Given the description of an element on the screen output the (x, y) to click on. 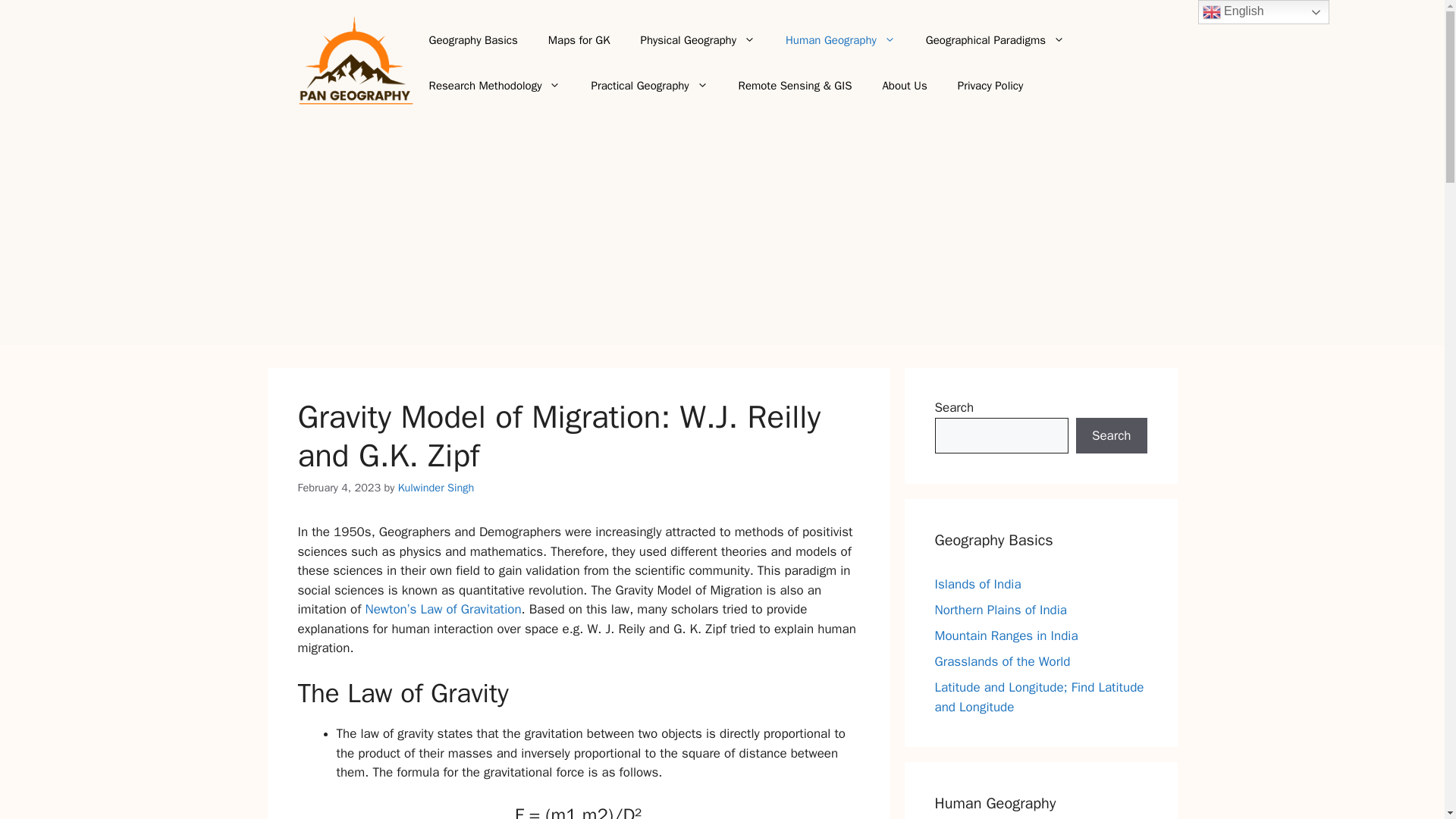
Human Geography (840, 40)
Pan Geography (355, 62)
Geography Basics (472, 40)
Physical Geography (698, 40)
Pan Geography (355, 61)
Research Methodology (494, 85)
Practical Geography (648, 85)
Privacy Policy (990, 85)
Geographical Paradigms (995, 40)
View all posts by Kulwinder Singh (435, 487)
Kulwinder Singh (435, 487)
Maps for GK (579, 40)
About Us (904, 85)
